Given the description of an element on the screen output the (x, y) to click on. 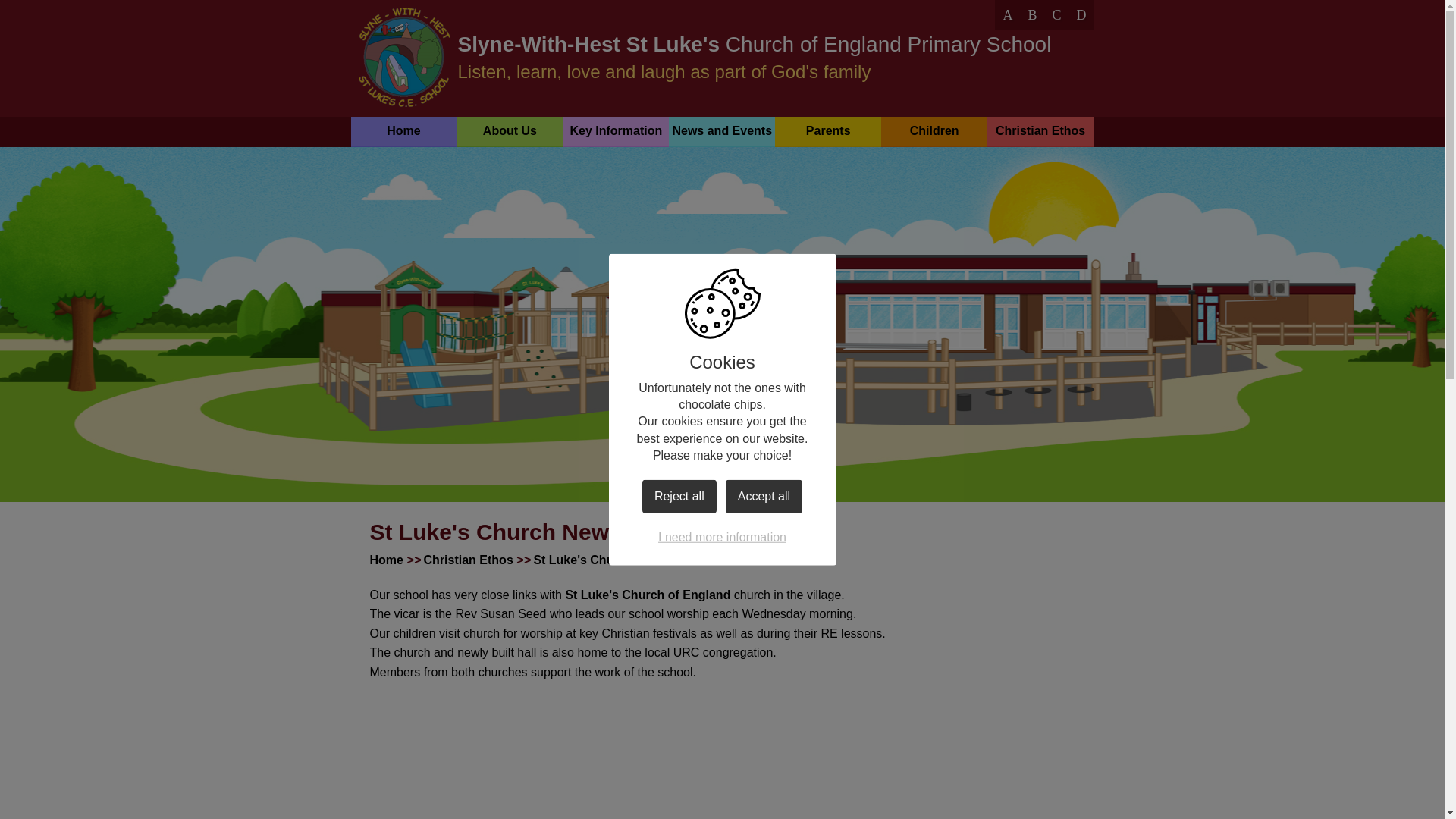
Home Page (403, 57)
Key Information (615, 131)
Home Page (403, 57)
Home (403, 131)
About Us (509, 131)
